Given the description of an element on the screen output the (x, y) to click on. 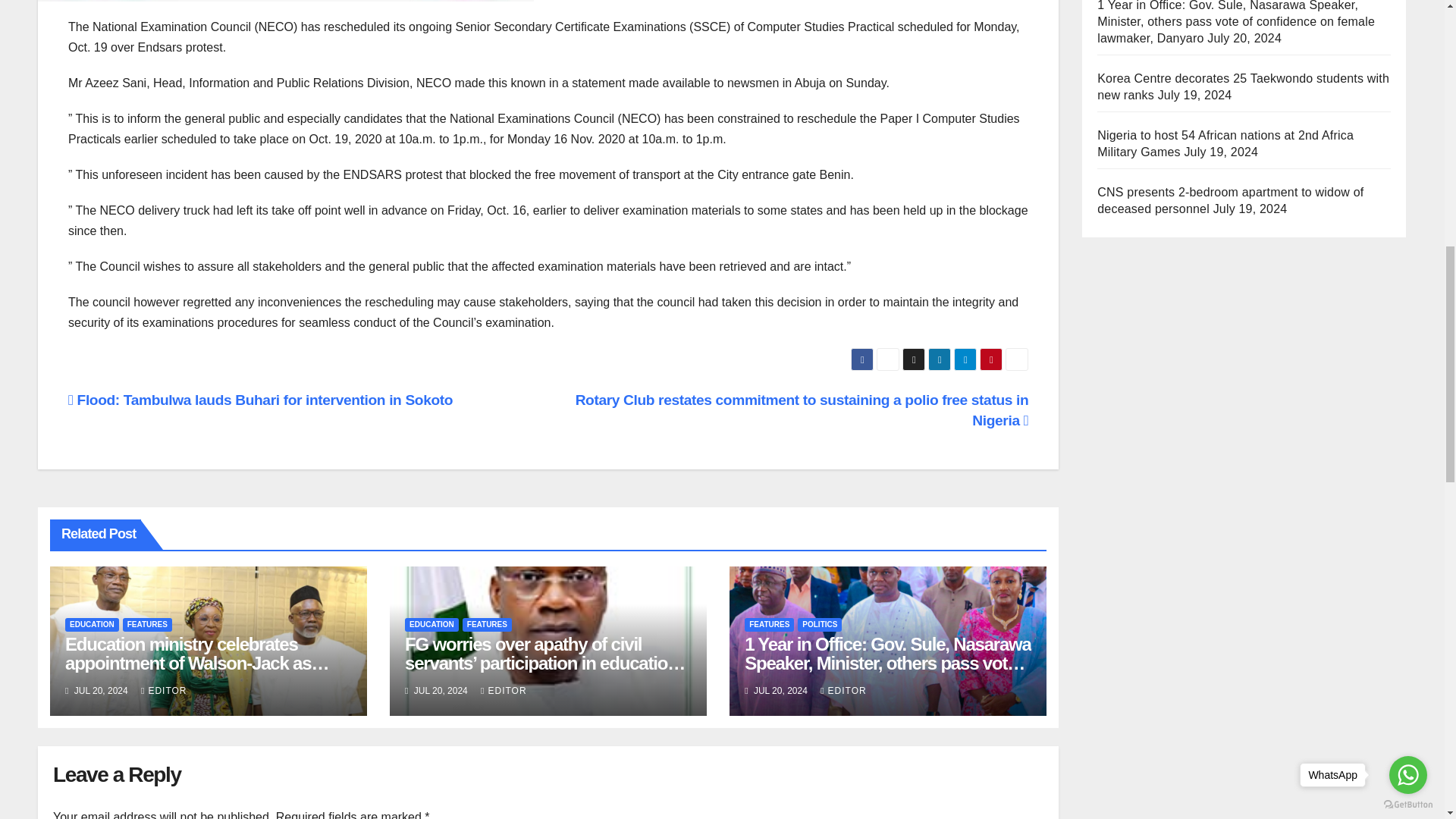
FEATURES (768, 624)
EDUCATION (431, 624)
Flood: Tambulwa lauds Buhari for intervention in Sokoto (260, 399)
FEATURES (146, 624)
EDITOR (503, 690)
EDUCATION (92, 624)
EDITOR (843, 690)
POLITICS (819, 624)
EDITOR (164, 690)
FEATURES (487, 624)
